Given the description of an element on the screen output the (x, y) to click on. 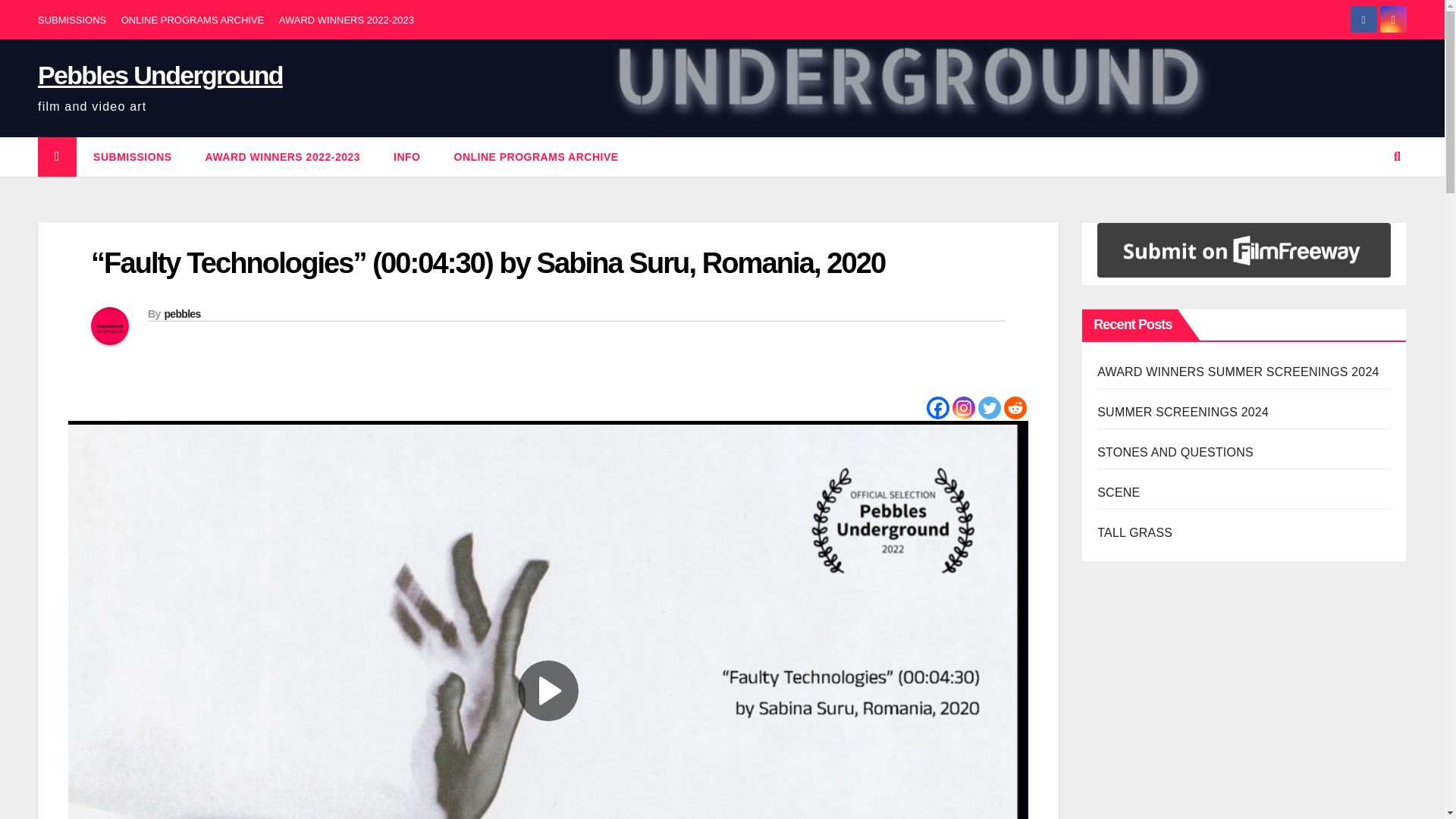
Reddit (1015, 407)
INFO (406, 156)
SUBMISSIONS (133, 156)
ONLINE PROGRAMS ARCHIVE (192, 19)
Facebook (937, 407)
Twitter (989, 407)
Pebbles Underground (159, 74)
AWARD WINNERS 2022-2023 (346, 19)
Instagram (963, 407)
ONLINE PROGRAMS ARCHIVE (535, 156)
AWARD WINNERS 2022-2023 (283, 156)
ONLINE PROGRAMS ARCHIVE (535, 156)
AWARD WINNERS 2022-2023 (283, 156)
SUBMISSIONS (71, 19)
SUBMISSIONS (133, 156)
